Given the description of an element on the screen output the (x, y) to click on. 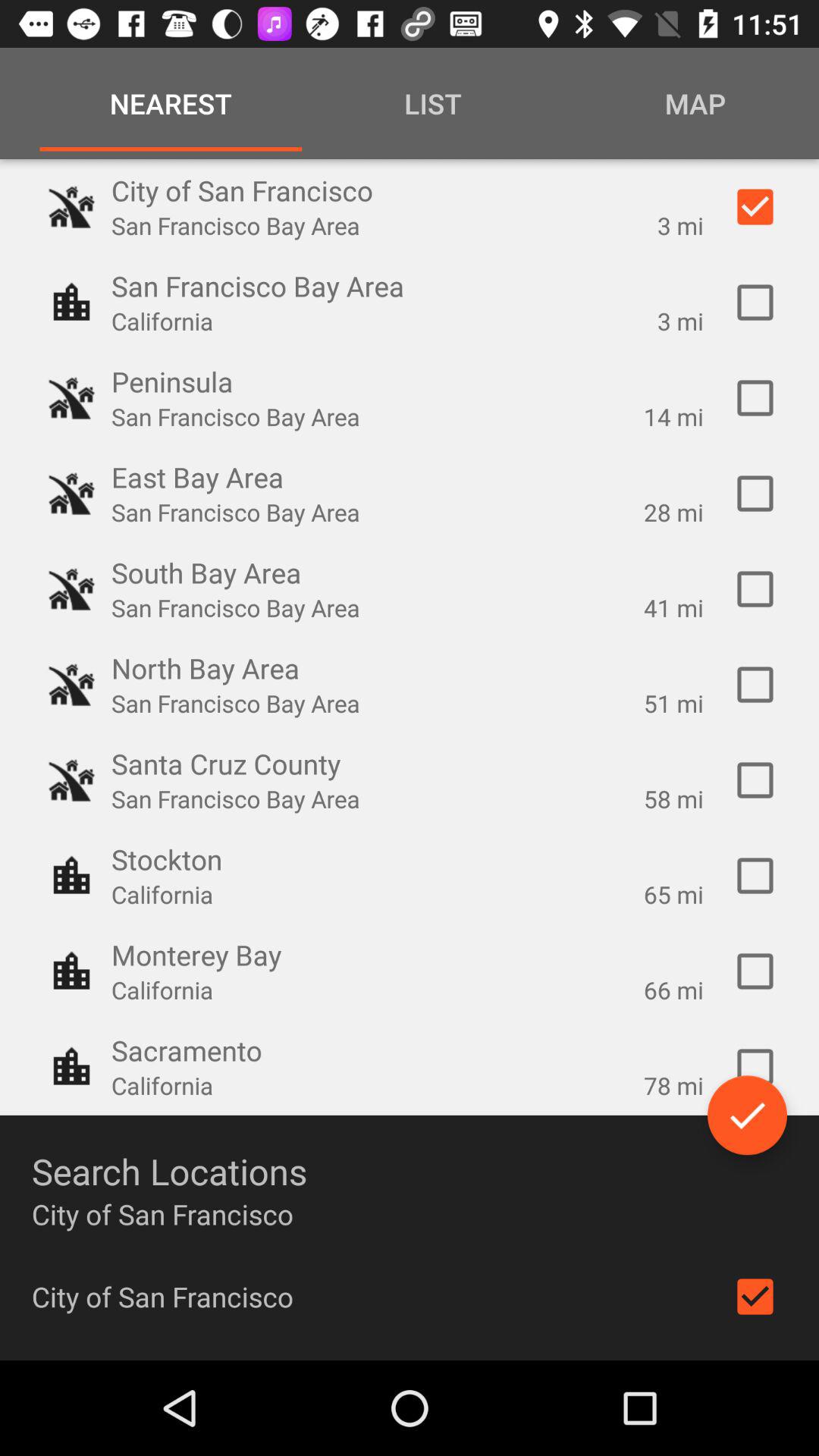
select the location (755, 971)
